Given the description of an element on the screen output the (x, y) to click on. 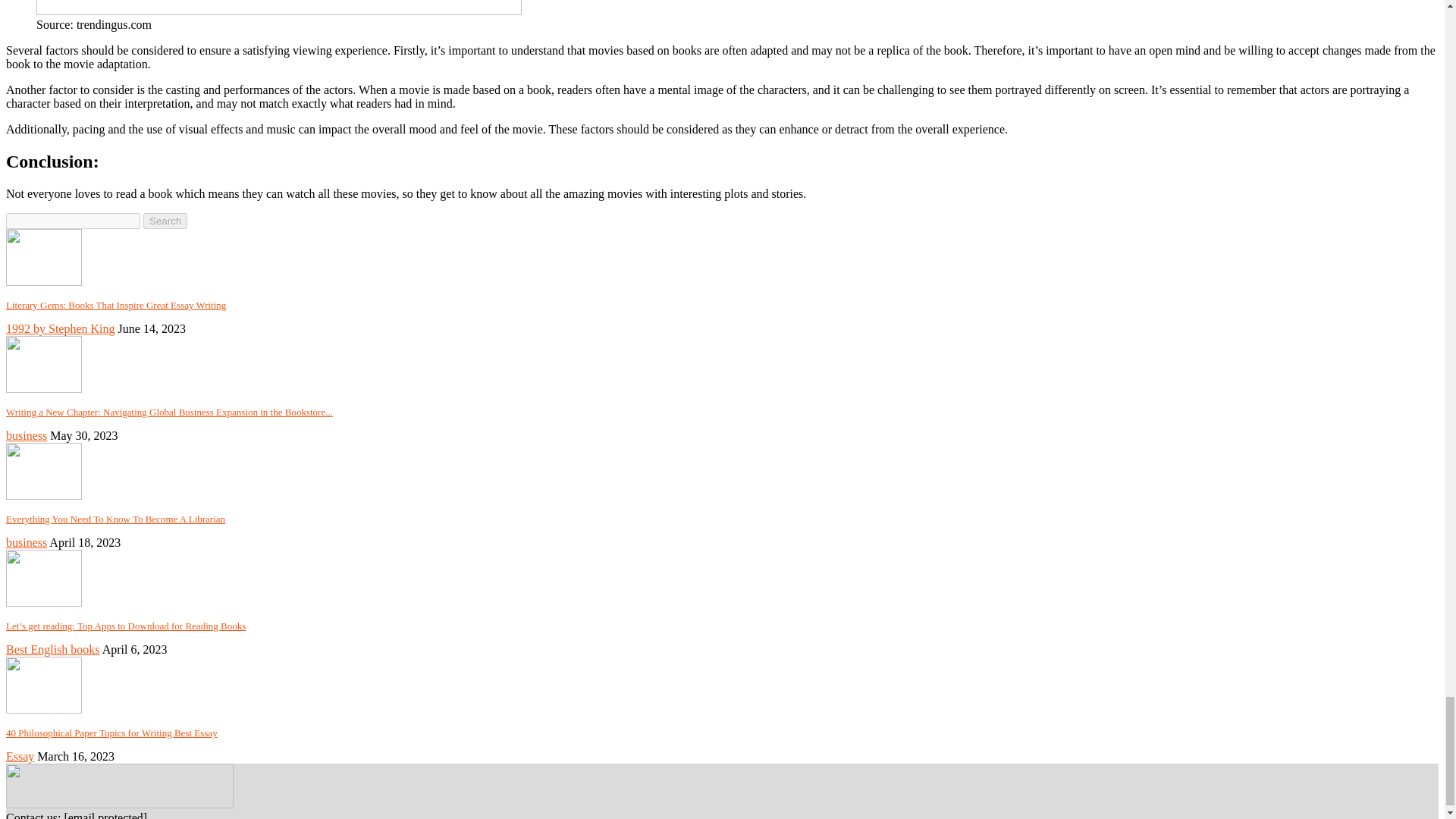
Search (164, 220)
Everything You Need To Know To Become A Librarian (115, 518)
Literary Gems: Books That Inspire Great Essay Writing (115, 305)
Literary Gems: Books That Inspire Great Essay Writing (43, 281)
1992 by Stephen King (60, 328)
Literary Gems: Books That Inspire Great Essay Writing (115, 305)
Everything You Need To Know To Become A Librarian (43, 471)
